Given the description of an element on the screen output the (x, y) to click on. 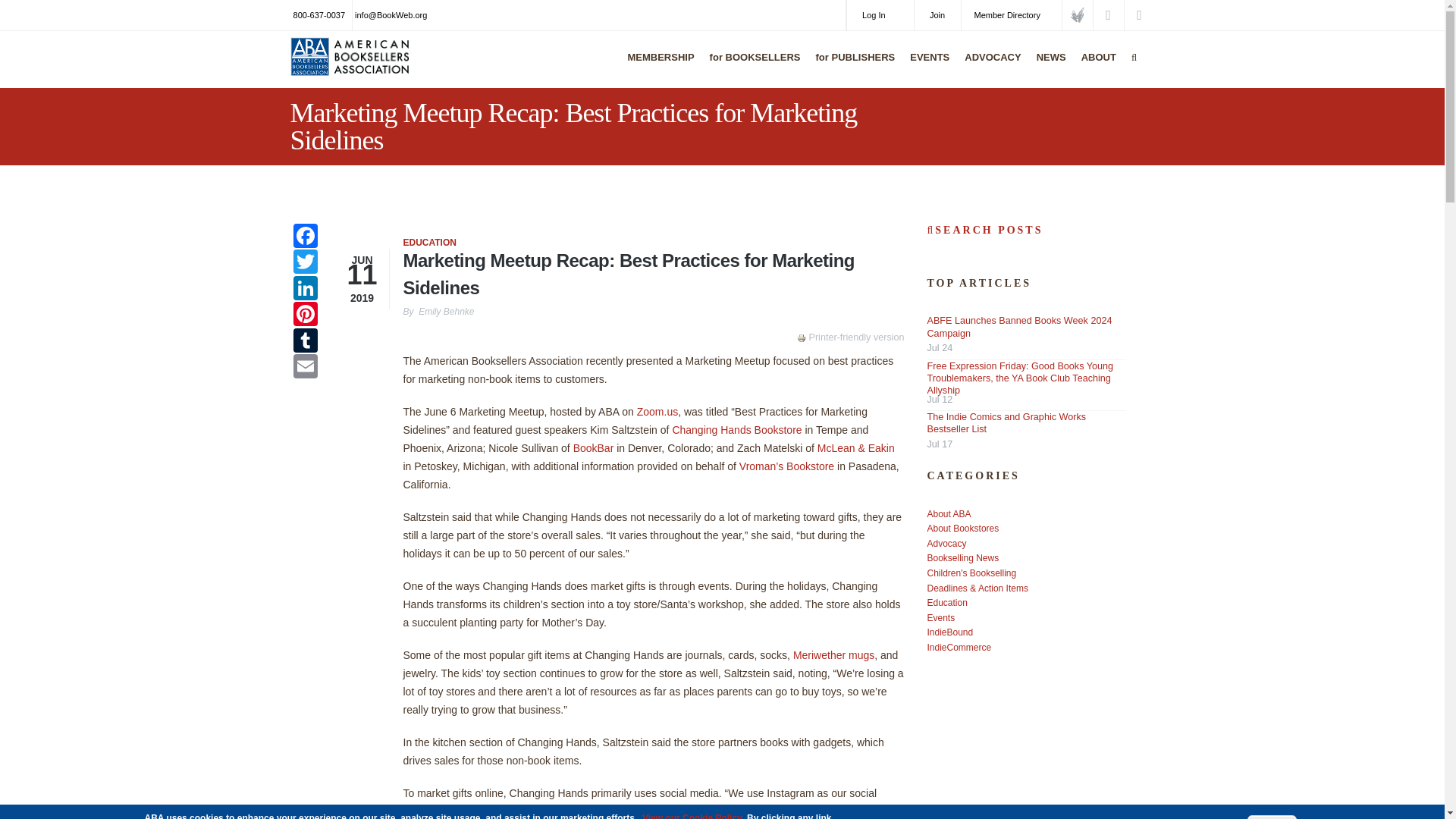
Member Directory (1010, 15)
ABOUT (1094, 66)
Printer-friendly version (802, 338)
Accept (1272, 816)
for BOOKSELLERS (751, 66)
for BOOKSELLERS (751, 66)
NEWS (1047, 66)
MEMBERSHIP (656, 66)
EVENTS (925, 66)
ADVOCACY (989, 66)
for PUBLISHERS (852, 66)
Display a printer-friendly version of this page. (850, 337)
Join (937, 15)
Log In (880, 15)
